Given the description of an element on the screen output the (x, y) to click on. 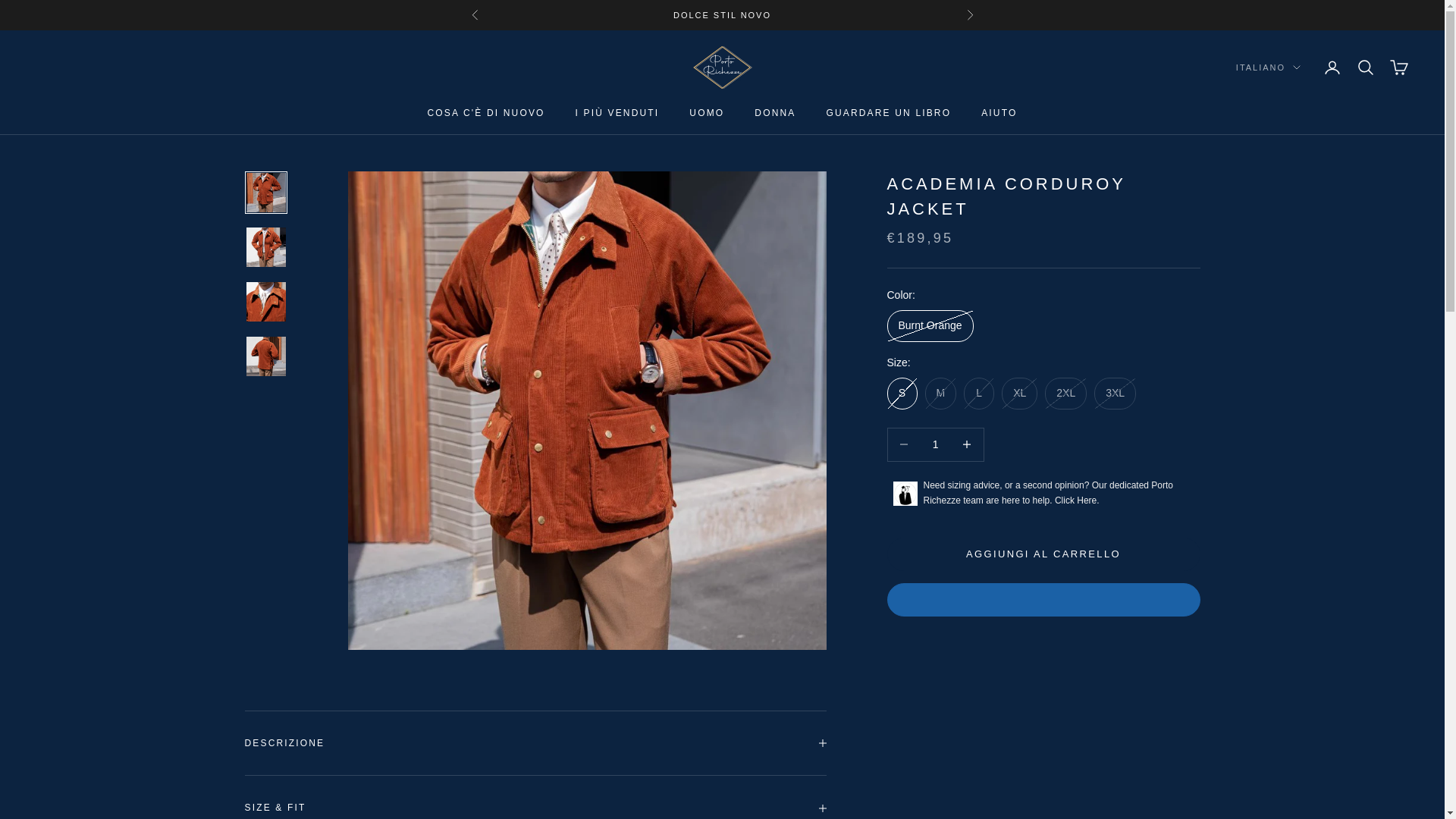
Mostra il carrello (1398, 67)
Mostra account (1331, 67)
Contact (1076, 500)
Mostra il menu di ricerca (1365, 67)
1 (935, 444)
